Given the description of an element on the screen output the (x, y) to click on. 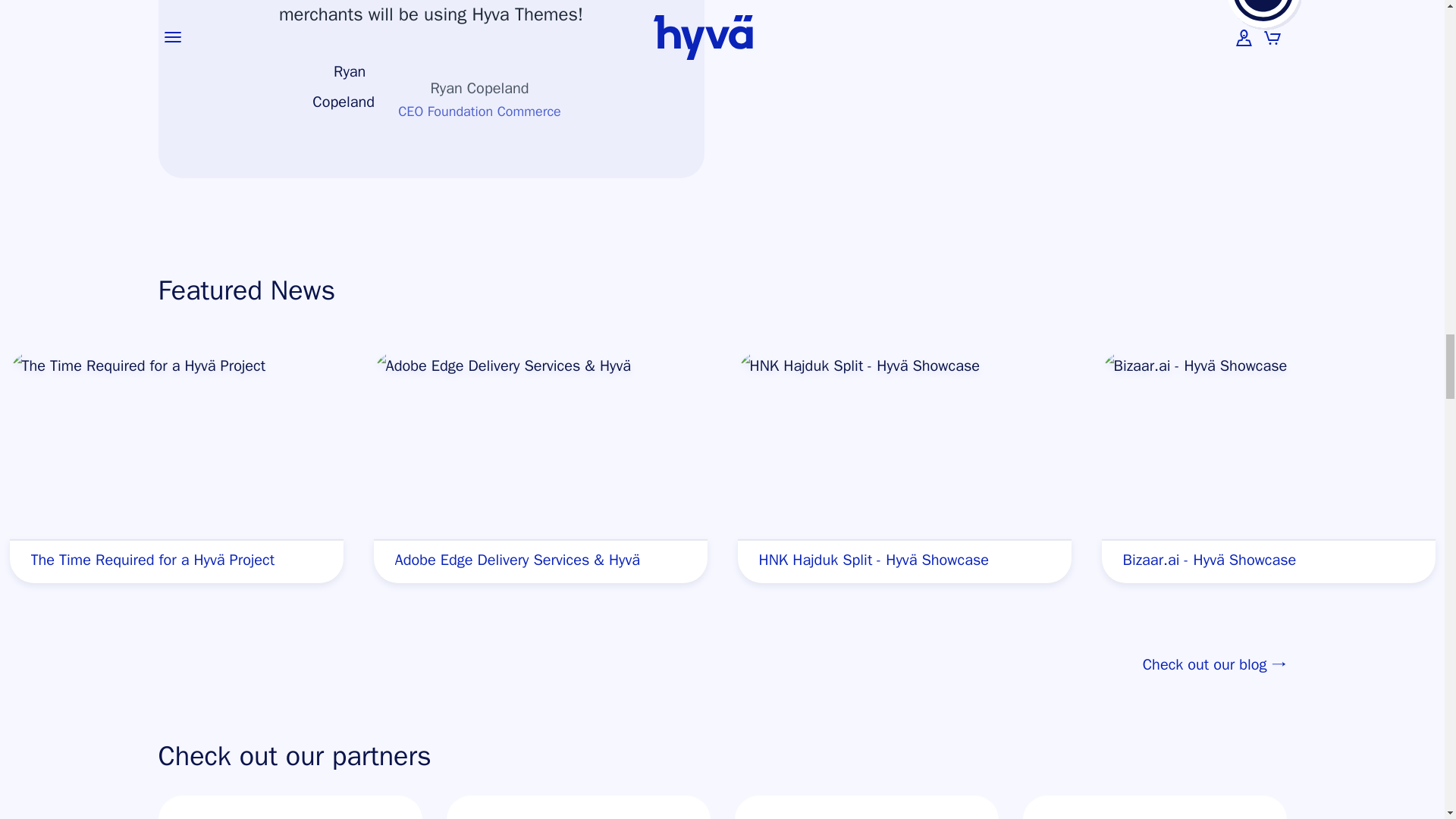
ZERO-1 (1153, 807)
Snowdog (865, 807)
Vendic (289, 807)
